Given the description of an element on the screen output the (x, y) to click on. 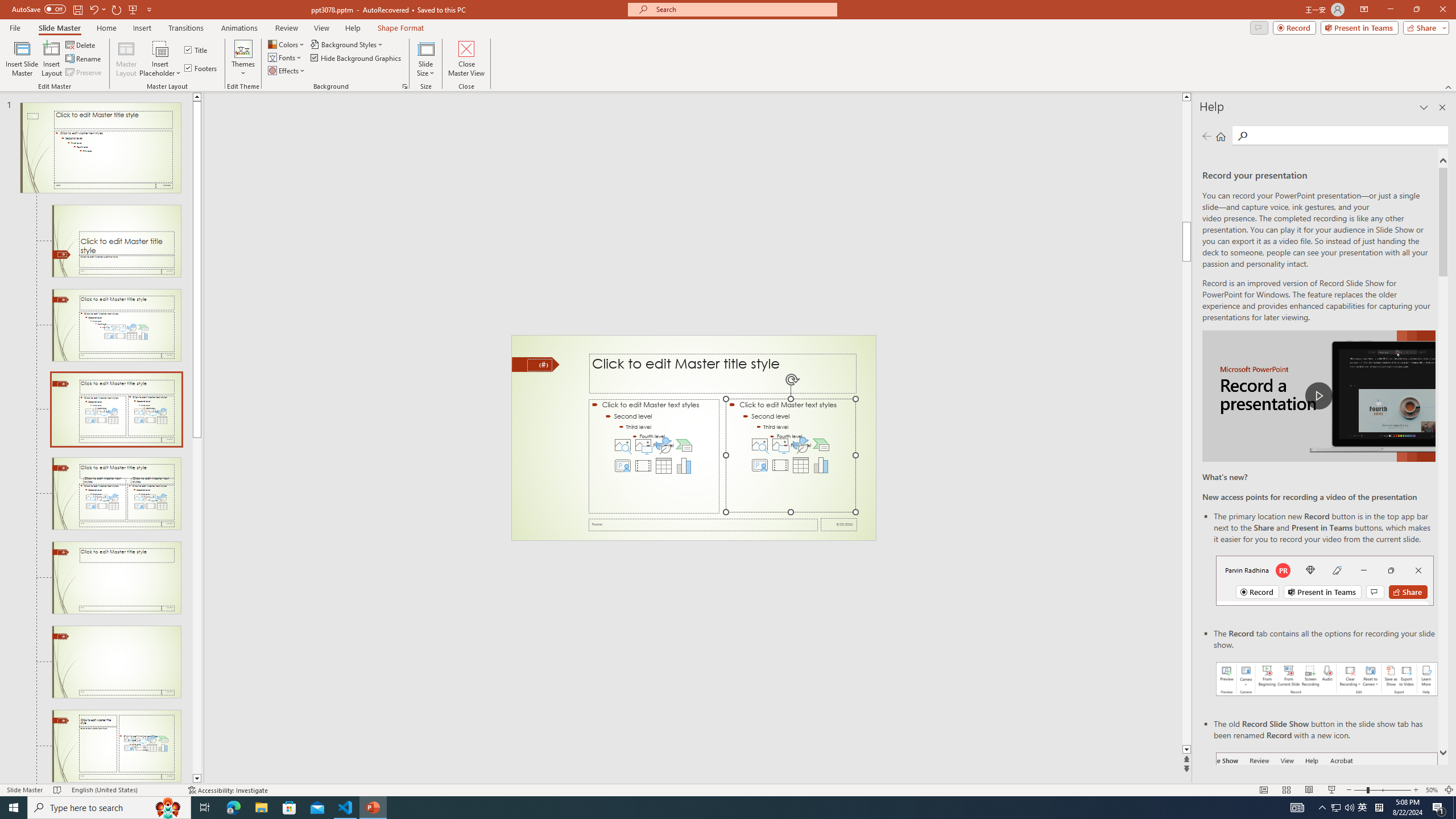
Master Layout... (126, 58)
Footer (703, 524)
Title TextBox (722, 373)
Insert Placeholder (160, 58)
Slide Title and Content Layout: used by no slides (116, 325)
Insert Cameo (759, 465)
